Given the description of an element on the screen output the (x, y) to click on. 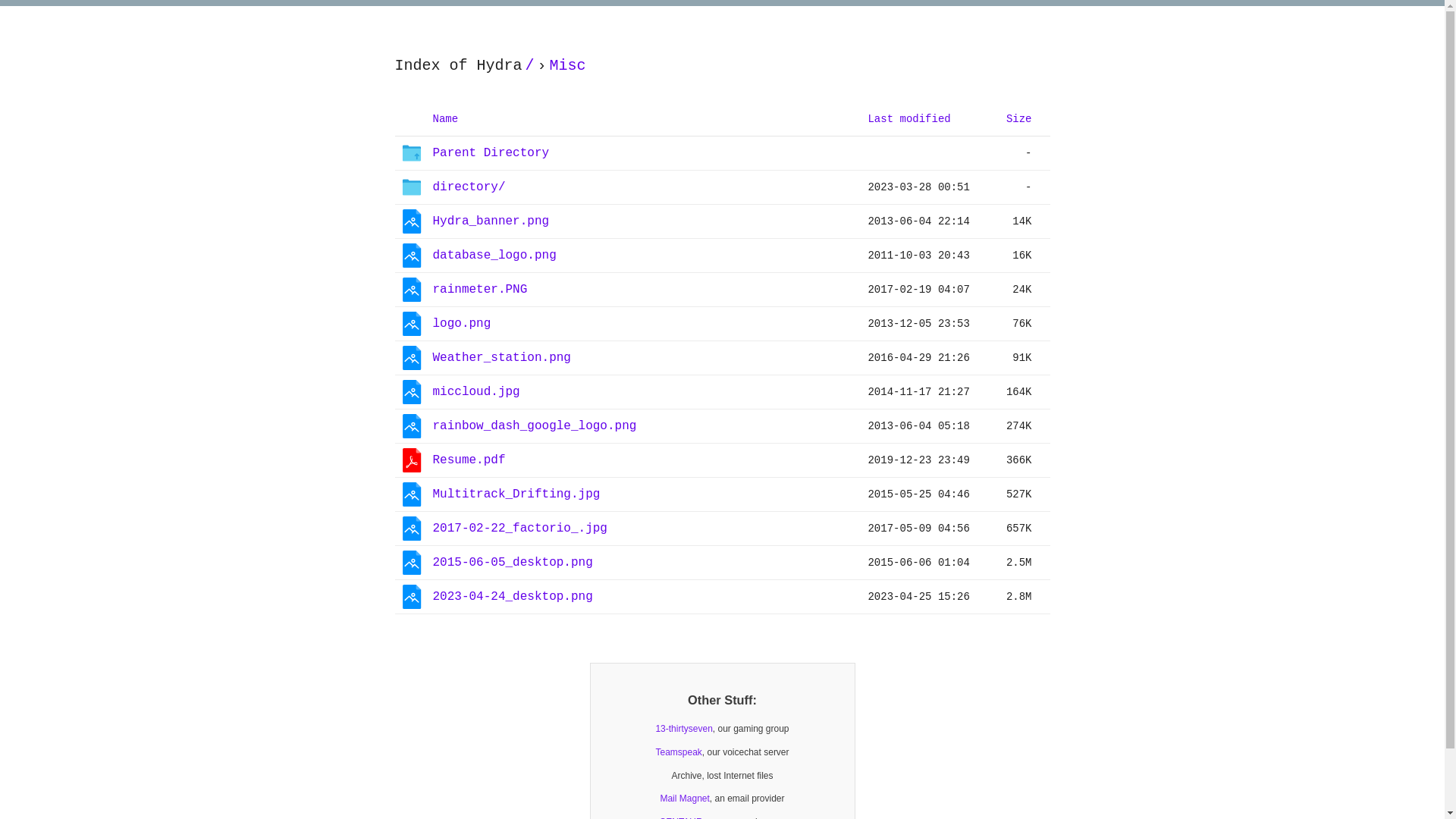
Resume.pdf Element type: text (468, 460)
2023-04-24_desktop.png Element type: text (512, 596)
Teamspeak Element type: text (678, 752)
13-thirtyseven Element type: text (683, 728)
2015-06-05_desktop.png Element type: text (512, 562)
Weather_station.png Element type: text (501, 357)
2017-02-22_factorio_.jpg Element type: text (519, 528)
Size Element type: text (1019, 118)
Mail Magnet Element type: text (684, 798)
rainbow_dash_google_logo.png Element type: text (534, 425)
Name Element type: text (445, 118)
rainmeter.PNG Element type: text (479, 289)
logo.png Element type: text (461, 323)
/ Element type: text (529, 66)
miccloud.jpg Element type: text (475, 392)
Misc Element type: text (567, 66)
directory/ Element type: text (468, 187)
Last modified Element type: text (908, 118)
Hydra_banner.png Element type: text (490, 220)
database_logo.png Element type: text (493, 255)
Parent Directory Element type: text (490, 152)
Multitrack_Drifting.jpg Element type: text (515, 493)
